Given the description of an element on the screen output the (x, y) to click on. 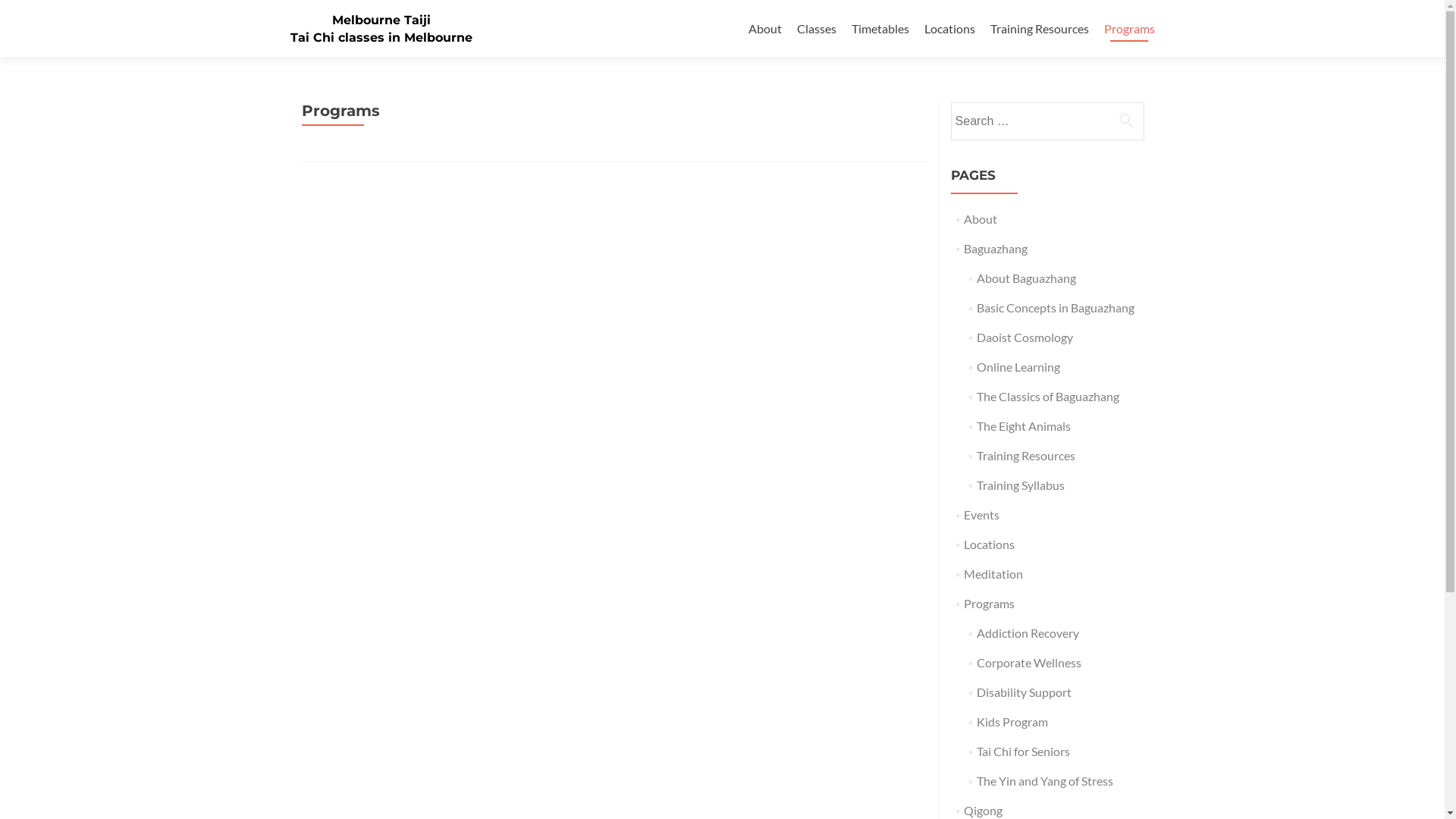
Training Resources Element type: text (1039, 28)
Meditation Element type: text (992, 573)
The Yin and Yang of Stress Element type: text (1044, 780)
Online Learning Element type: text (1018, 366)
Timetables Element type: text (879, 28)
Programs Element type: text (1129, 28)
Daoist Cosmology Element type: text (1024, 336)
Baguazhang Element type: text (995, 248)
Search Element type: text (1125, 119)
Training Resources Element type: text (1025, 455)
Tai Chi for Seniors Element type: text (1023, 750)
About Baguazhang Element type: text (1026, 277)
Programs Element type: text (988, 603)
Disability Support Element type: text (1023, 691)
Events Element type: text (981, 514)
Tai Chi classes in Melbourne Element type: text (380, 37)
The Classics of Baguazhang Element type: text (1047, 396)
Qigong Element type: text (982, 810)
Locations Element type: text (948, 28)
The Eight Animals Element type: text (1023, 425)
Basic Concepts in Baguazhang Element type: text (1055, 307)
Locations Element type: text (988, 543)
Training Syllabus Element type: text (1020, 484)
Addiction Recovery Element type: text (1027, 632)
Corporate Wellness Element type: text (1028, 662)
Classes Element type: text (815, 28)
Kids Program Element type: text (1012, 721)
About Element type: text (764, 28)
About Element type: text (980, 218)
Melbourne Taiji Element type: text (381, 19)
